Given the description of an element on the screen output the (x, y) to click on. 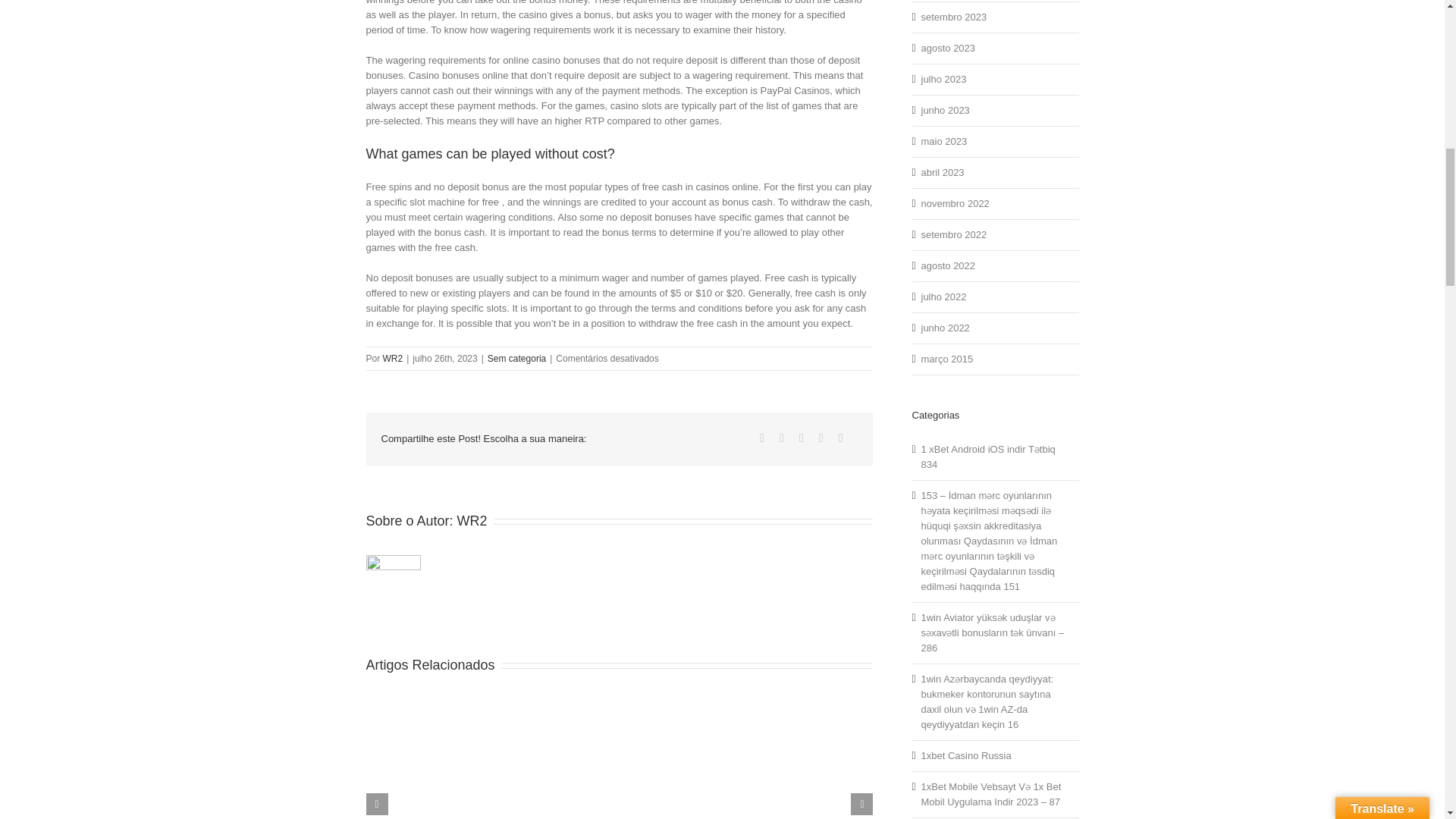
WR2 (472, 520)
Posts de WR2 (392, 357)
WR2 (392, 357)
Sem categoria (516, 357)
Posts de WR2 (472, 520)
